Given the description of an element on the screen output the (x, y) to click on. 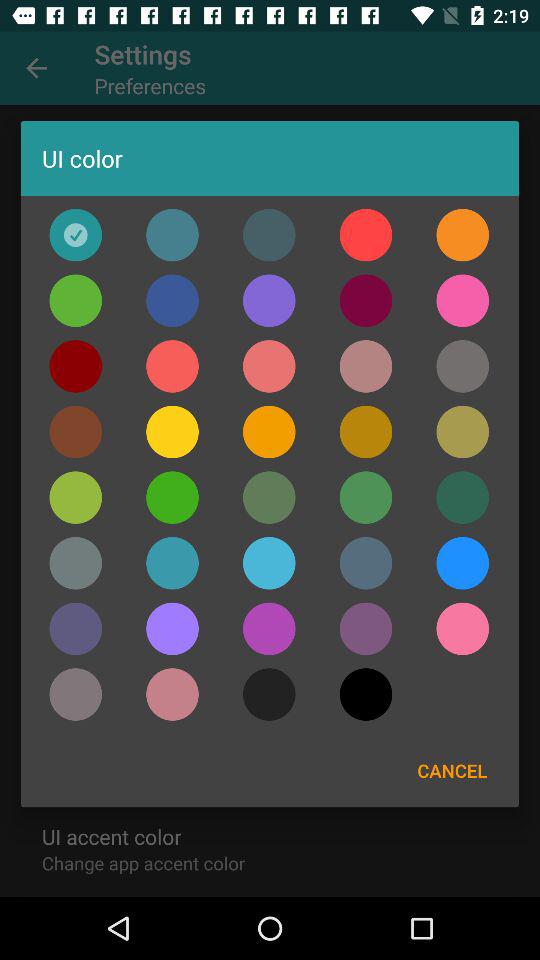
change ui color (269, 366)
